Given the description of an element on the screen output the (x, y) to click on. 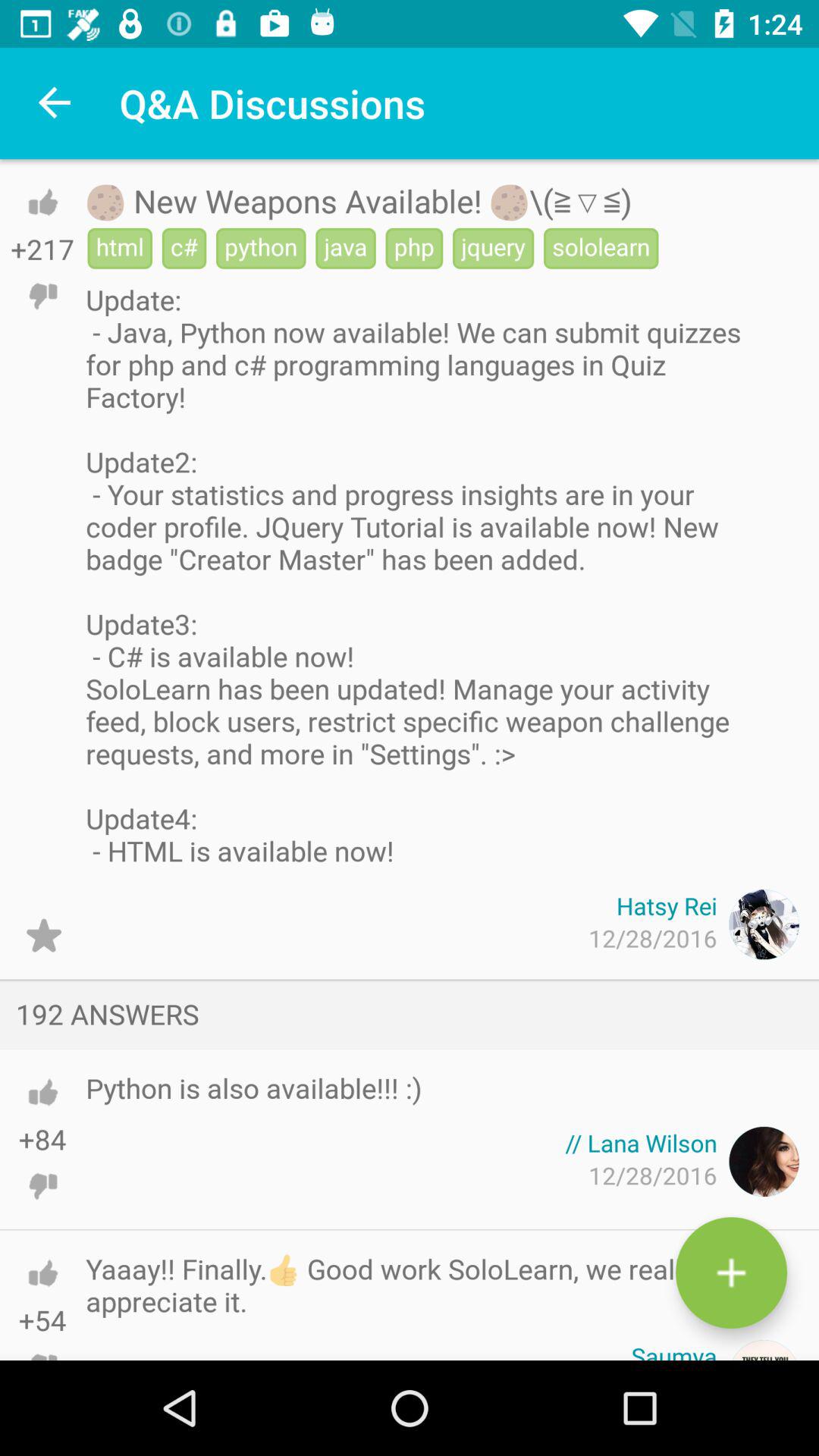
thumbs up or like (42, 1273)
